Given the description of an element on the screen output the (x, y) to click on. 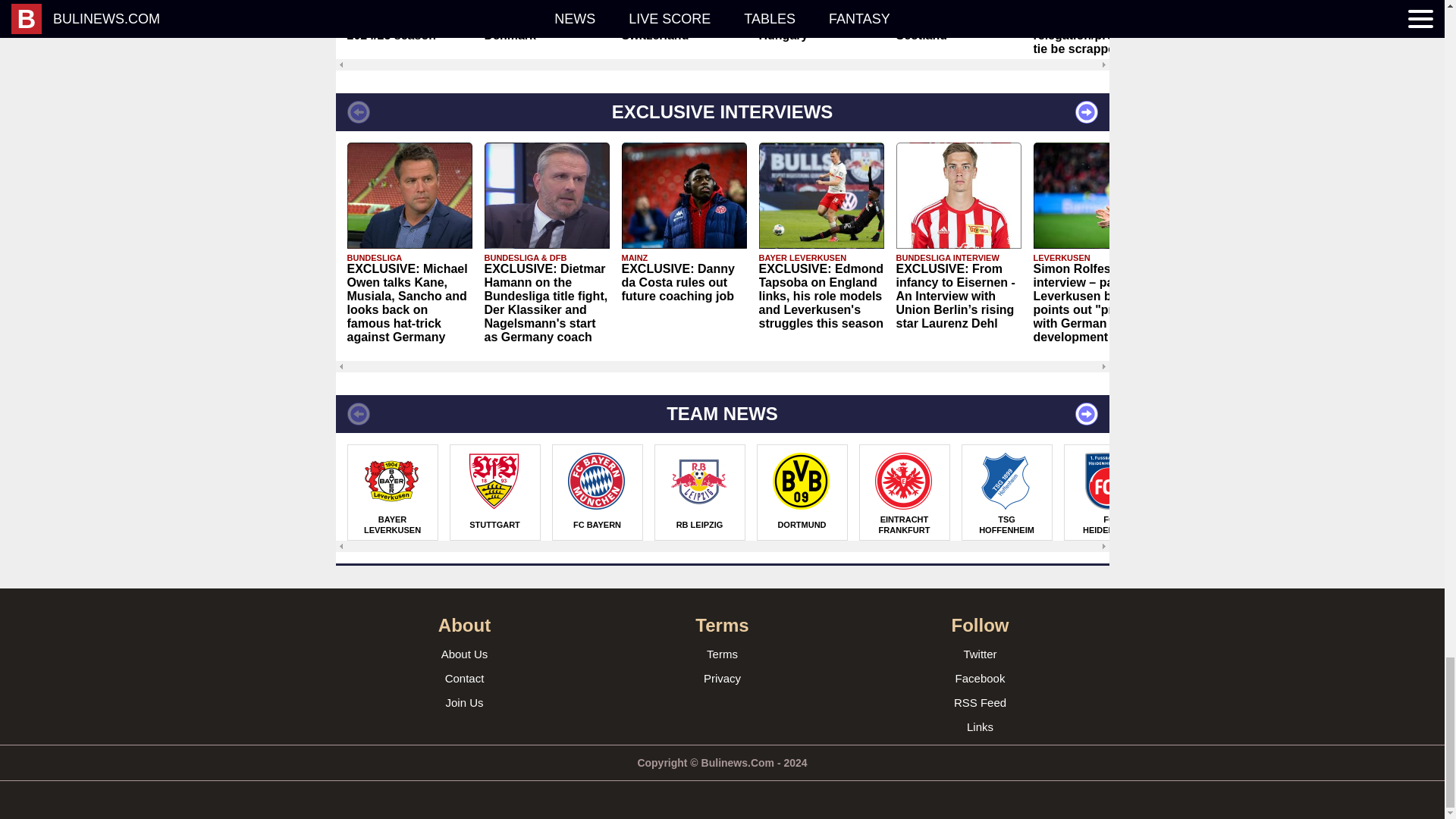
TEAM NEWS (721, 413)
EXCLUSIVE INTERVIEWS (721, 112)
